Given the description of an element on the screen output the (x, y) to click on. 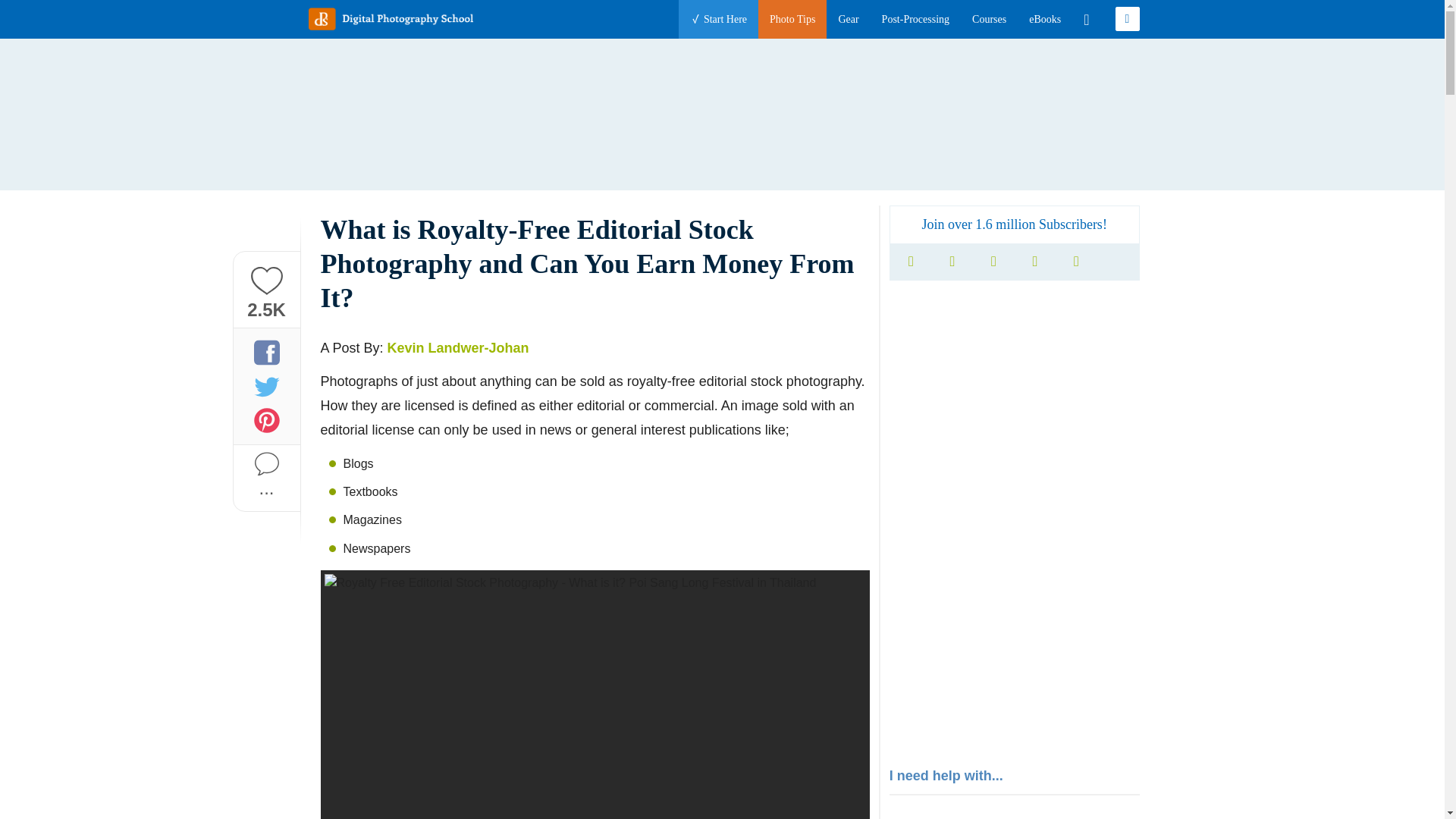
Gear (847, 19)
Click to share on Twitter (266, 385)
Digital Photography School (390, 18)
Click to share on Facebook (266, 352)
Post-Processing (915, 19)
Photo Tips (791, 19)
Click to share on Pinterest (266, 420)
